Given the description of an element on the screen output the (x, y) to click on. 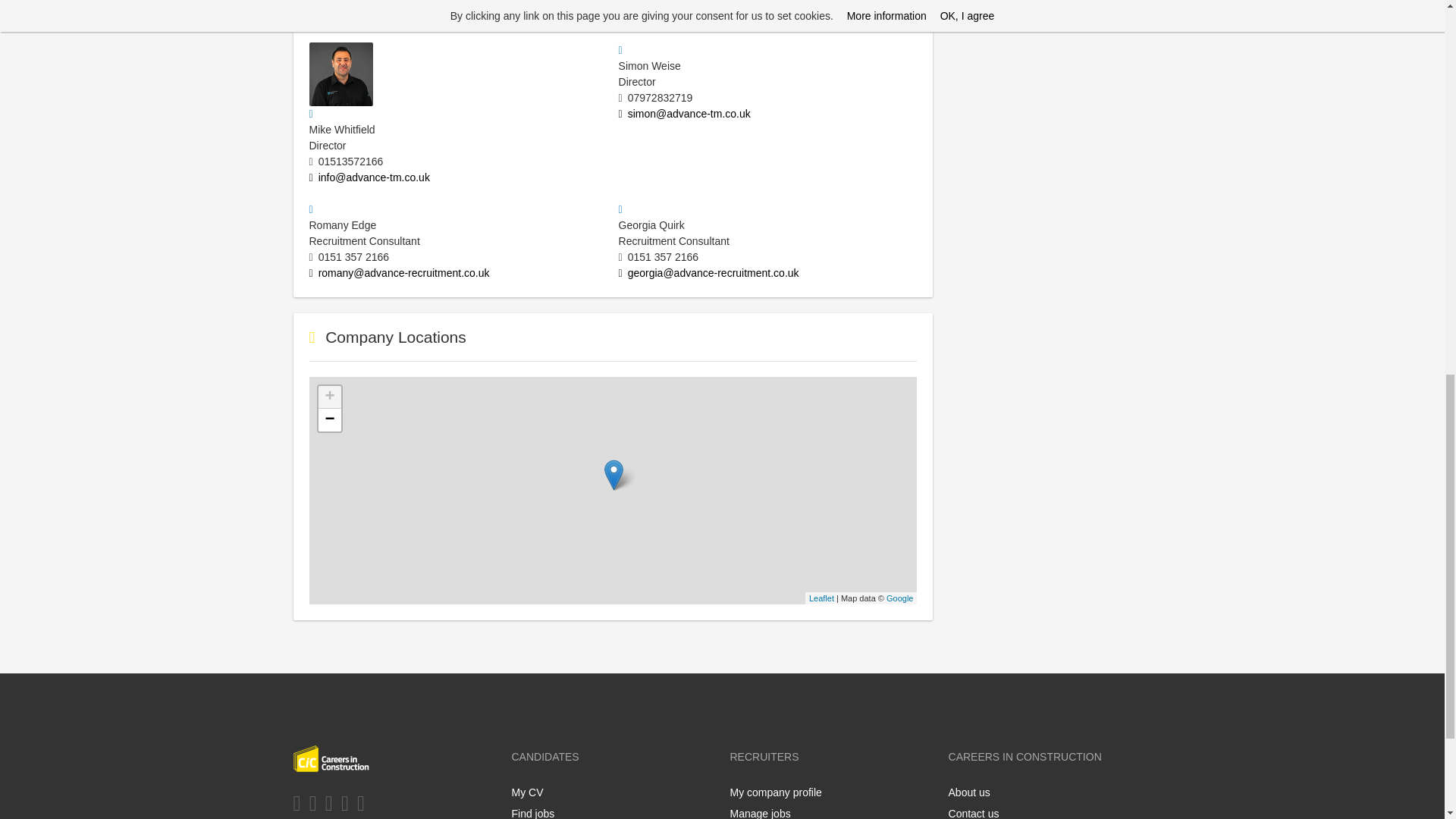
Leaflet (821, 597)
Zoom in (329, 396)
Google (899, 597)
A JS library for interactive maps (821, 597)
Zoom out (329, 419)
